Given the description of an element on the screen output the (x, y) to click on. 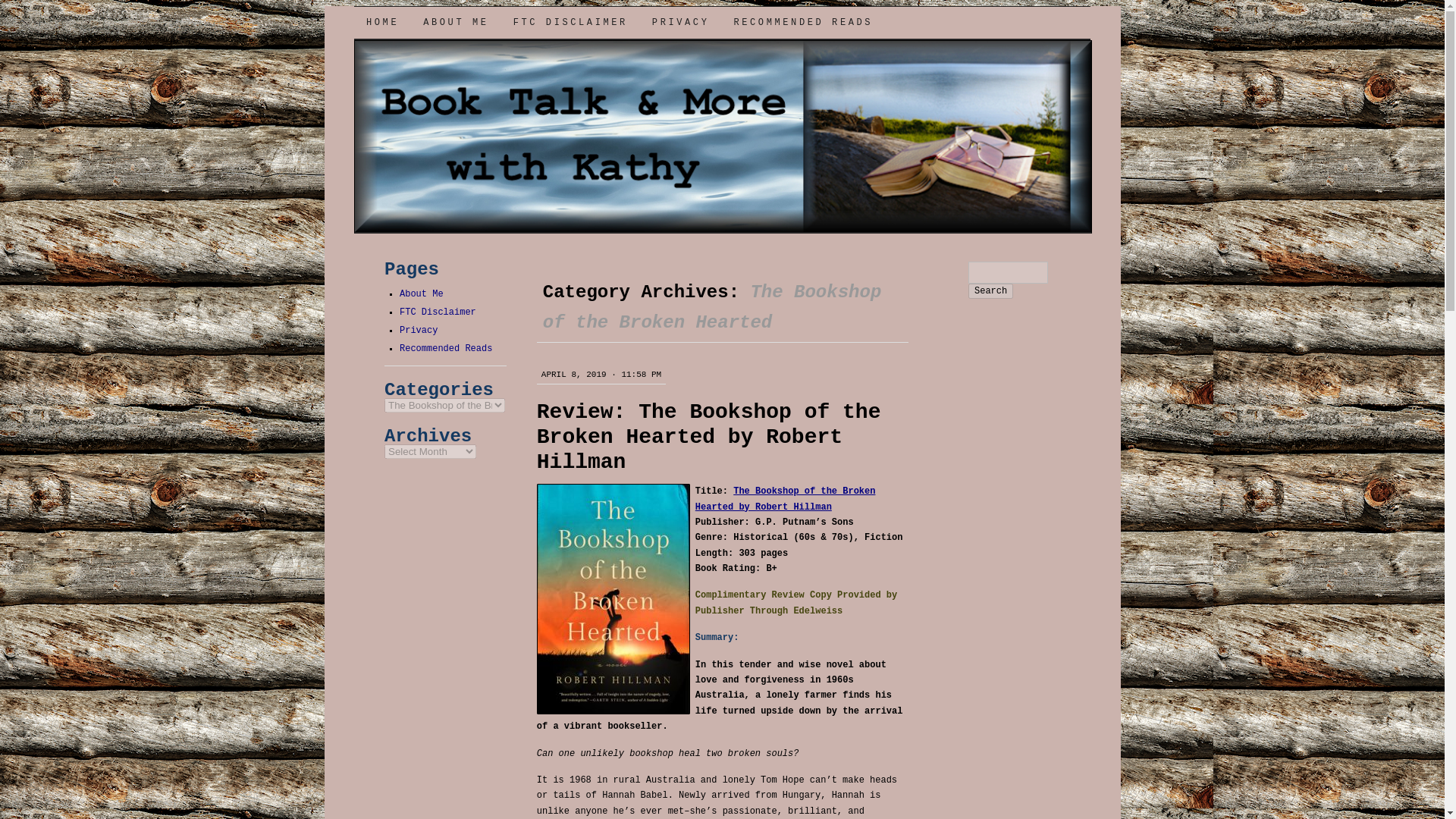
FTC Disclaimer (437, 312)
Search (990, 290)
RECOMMENDED READS (802, 22)
PRIVACY (681, 22)
The Bookshop of the Broken Hearted by Robert Hillman (785, 498)
Search (990, 290)
About Me (421, 294)
ABOUT ME (455, 22)
FTC DISCLAIMER (570, 22)
Review: The Bookshop of the Broken Hearted by Robert Hillman (708, 437)
